Given the description of an element on the screen output the (x, y) to click on. 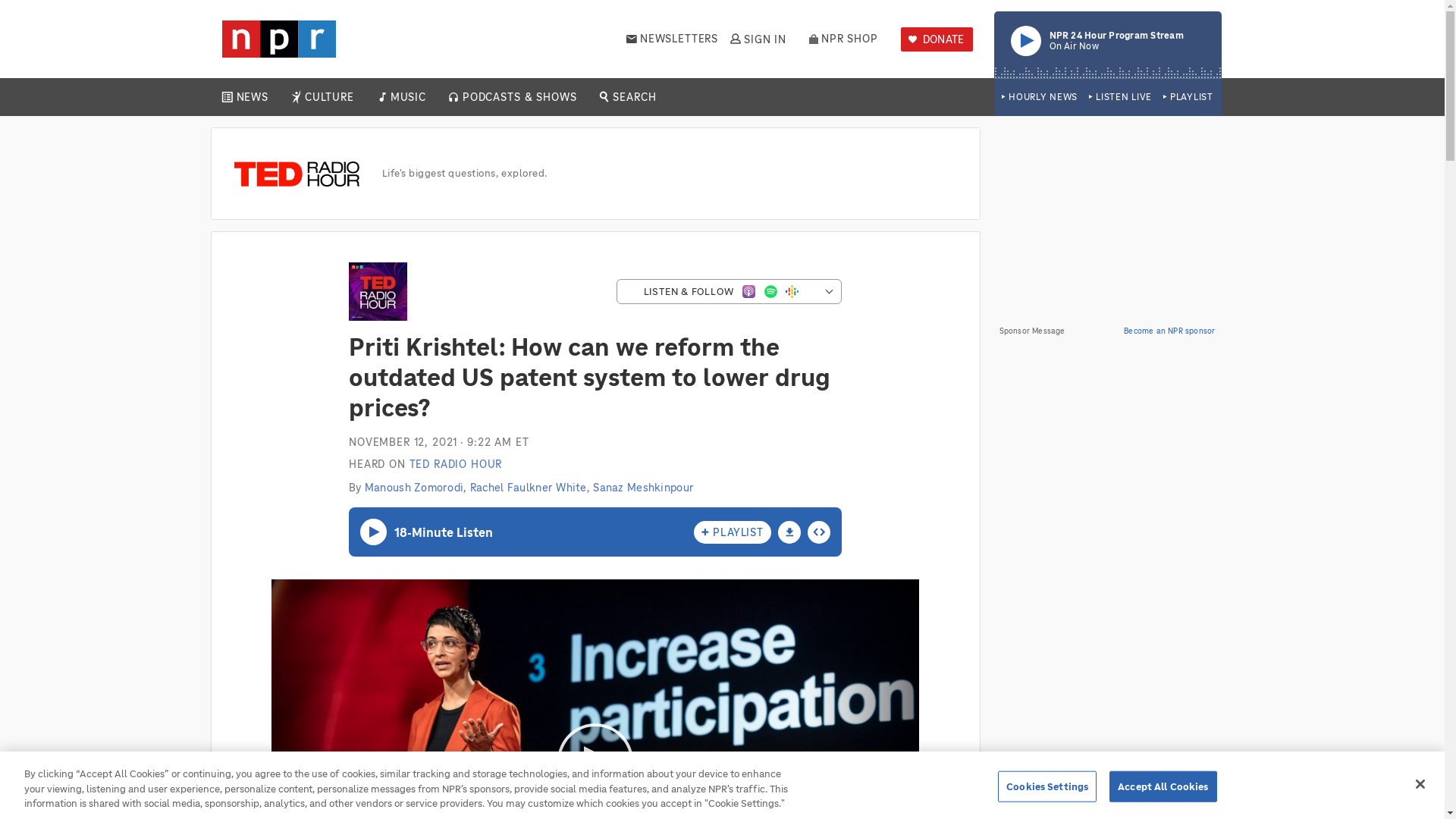
NPR SHOP (843, 38)
DONATE (936, 39)
LISTEN LIVE (1120, 97)
CULTURE (328, 96)
SIGN IN (757, 38)
MUSIC (407, 96)
HOURLY NEWS (1039, 97)
NEWS (251, 96)
PLAYLIST (1106, 44)
NEWSLETTERS (1187, 97)
